Given the description of an element on the screen output the (x, y) to click on. 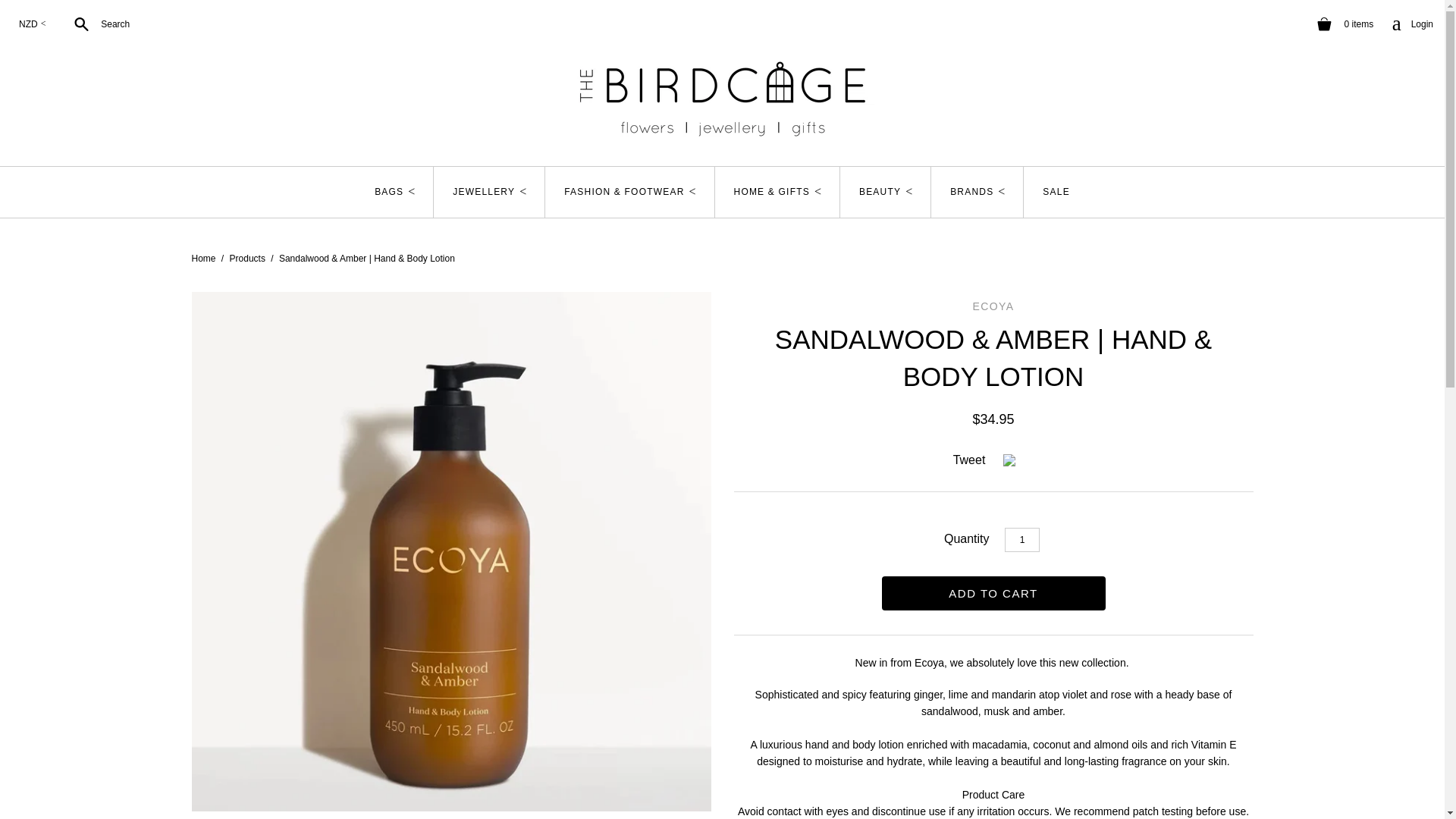
Add to cart (992, 593)
Search Icon (80, 24)
Search Icon Search (96, 24)
Bag Icon (1411, 24)
1 (1323, 24)
